Given the description of an element on the screen output the (x, y) to click on. 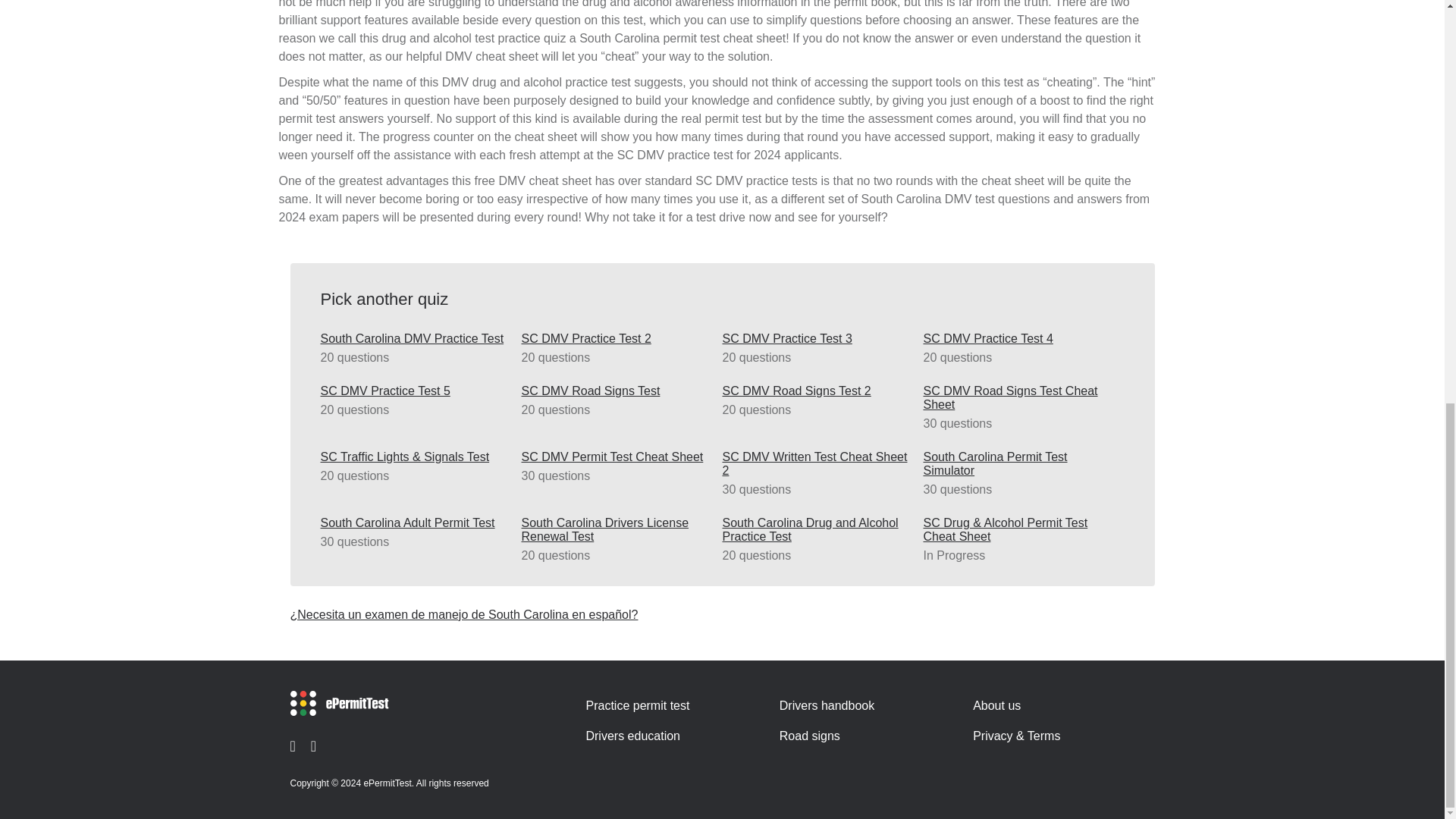
South Carolina DMV Practice Test (416, 338)
South Carolina DMV Practice Test (416, 338)
SC DMV Permit Test Cheat Sheet (617, 457)
SC DMV Road Signs Test Cheat Sheet (1019, 397)
SC DMV Practice Test 5 (416, 391)
SC DMV Practice Test 4 (1019, 338)
SC DMV Road Signs Test (617, 391)
SC DMV Road Signs Test 2 (818, 391)
SC DMV Practice Test 2 (617, 338)
South Carolina Drug and Alcohol Practice Test (818, 529)
